Given the description of an element on the screen output the (x, y) to click on. 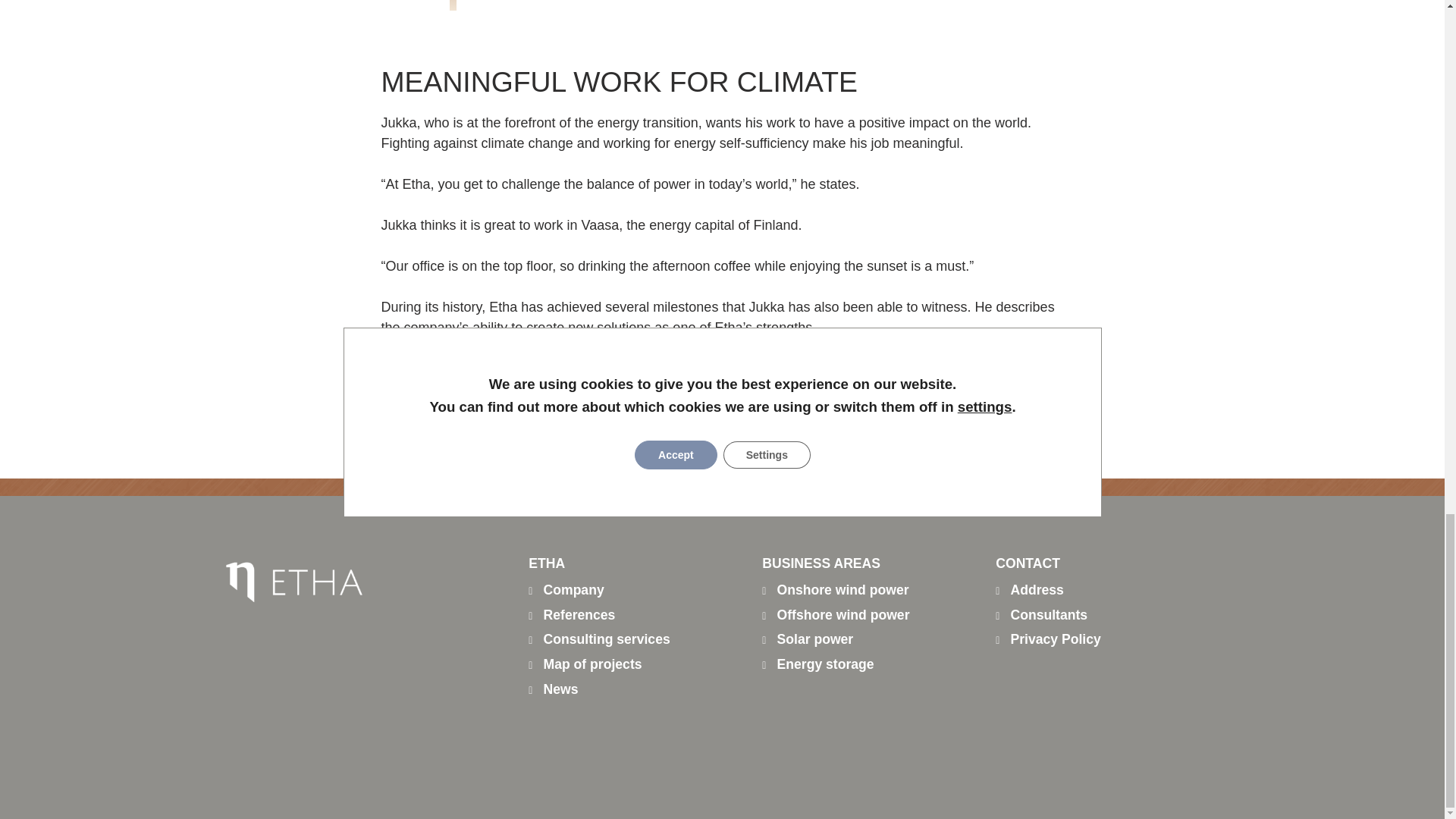
Address (1029, 589)
Solar power (807, 639)
References (571, 614)
Consulting services (598, 639)
Privacy Policy (1047, 639)
Company (566, 589)
Map of projects (585, 663)
Onshore wind power (834, 589)
Consultants (1041, 614)
Offshore wind power (834, 614)
Energy storage (817, 663)
News (553, 688)
